Given the description of an element on the screen output the (x, y) to click on. 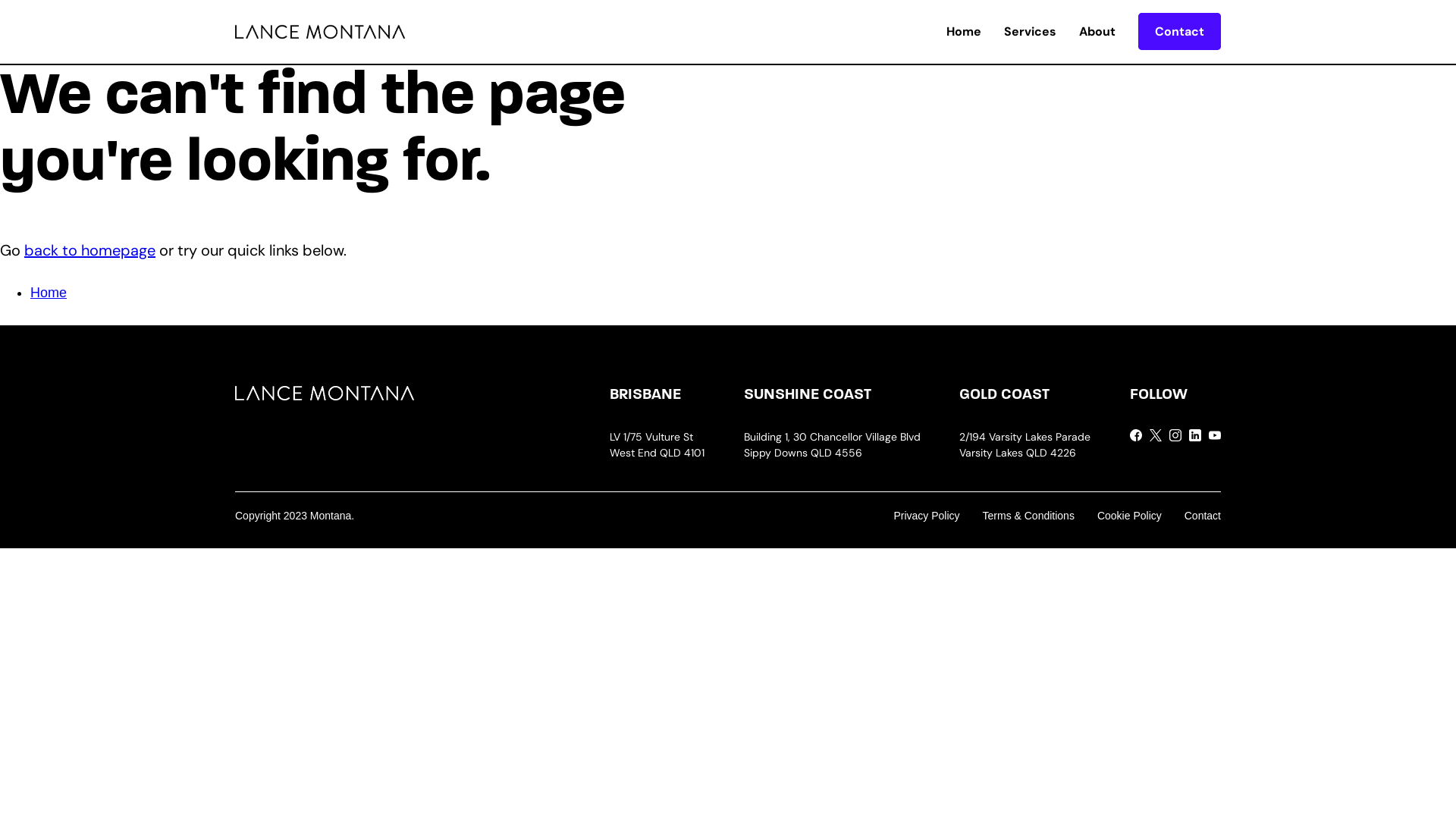
Cookie Policy Element type: text (1129, 515)
Contact Element type: text (1202, 515)
Terms & Conditions Element type: text (1028, 515)
About Element type: text (1097, 31)
back to homepage Element type: text (89, 250)
Home Element type: text (48, 292)
Privacy Policy Element type: text (926, 515)
Contact Element type: text (1179, 31)
Services Element type: text (1030, 31)
Home Element type: text (963, 31)
